Given the description of an element on the screen output the (x, y) to click on. 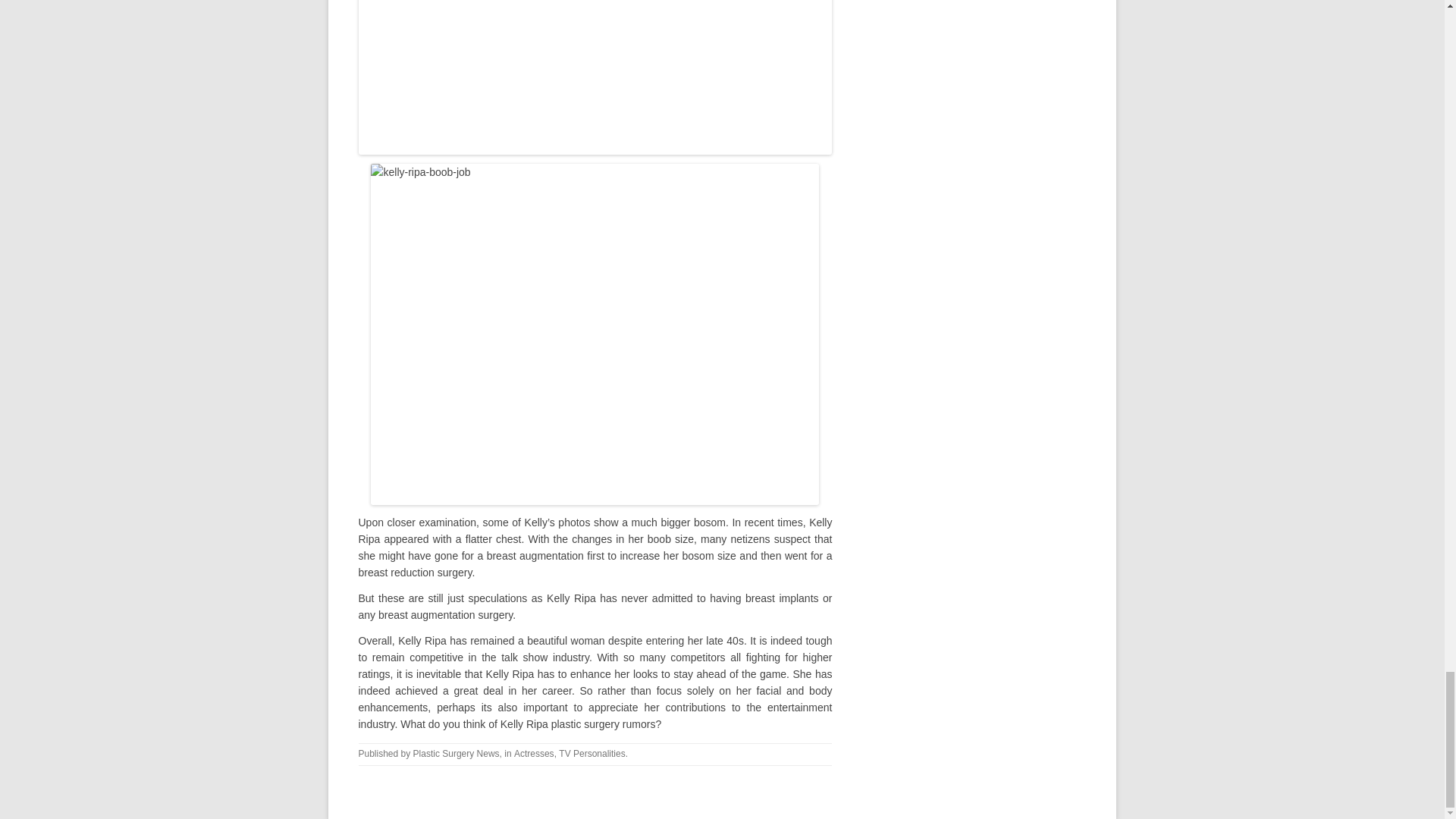
Actresses (533, 753)
Plastic Surgery News (456, 753)
View all posts by Plastic Surgery News (456, 753)
TV Personalities (591, 753)
